Given the description of an element on the screen output the (x, y) to click on. 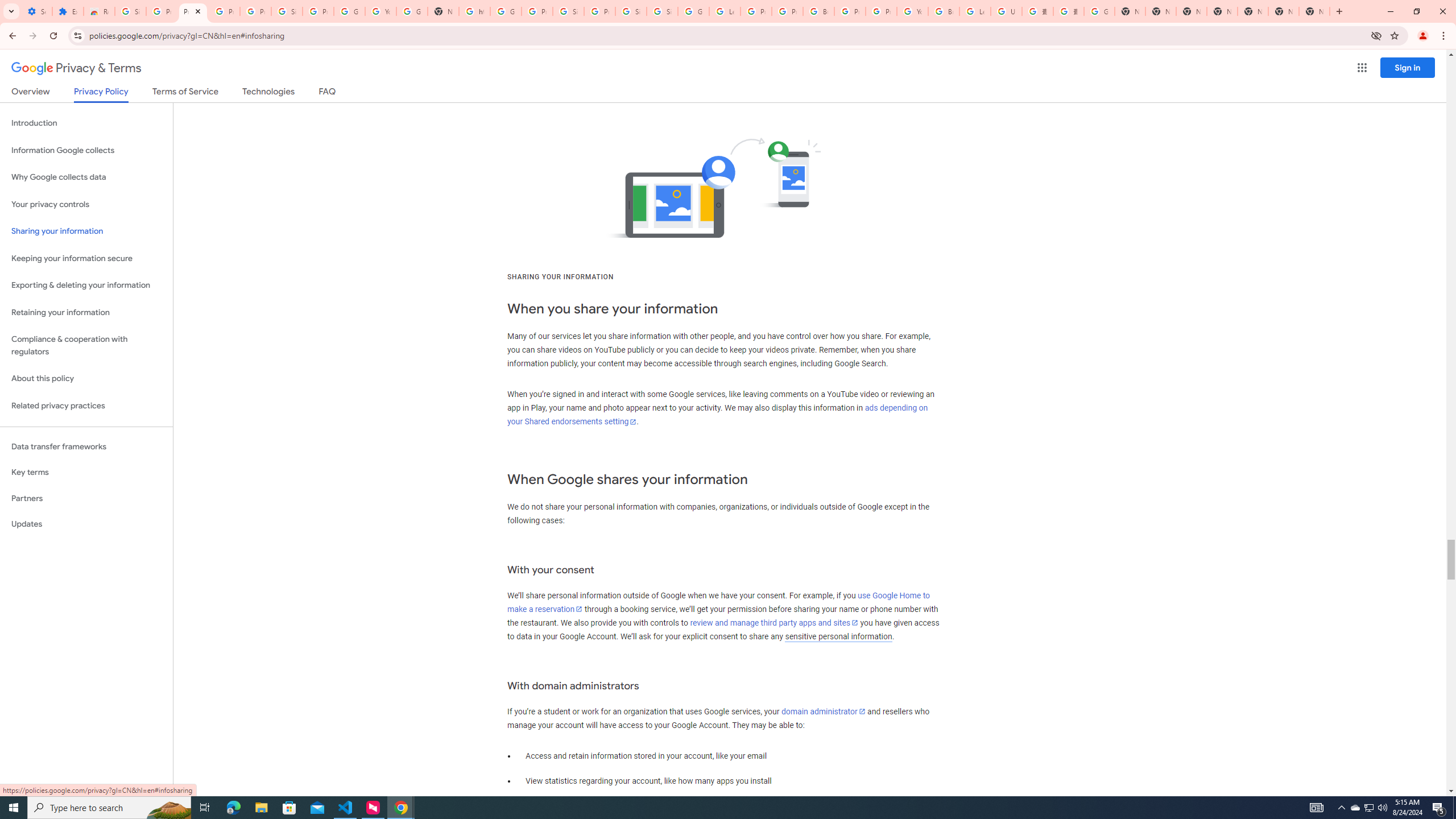
New Tab (1314, 11)
use Google Home to make a reservation (718, 602)
